Given the description of an element on the screen output the (x, y) to click on. 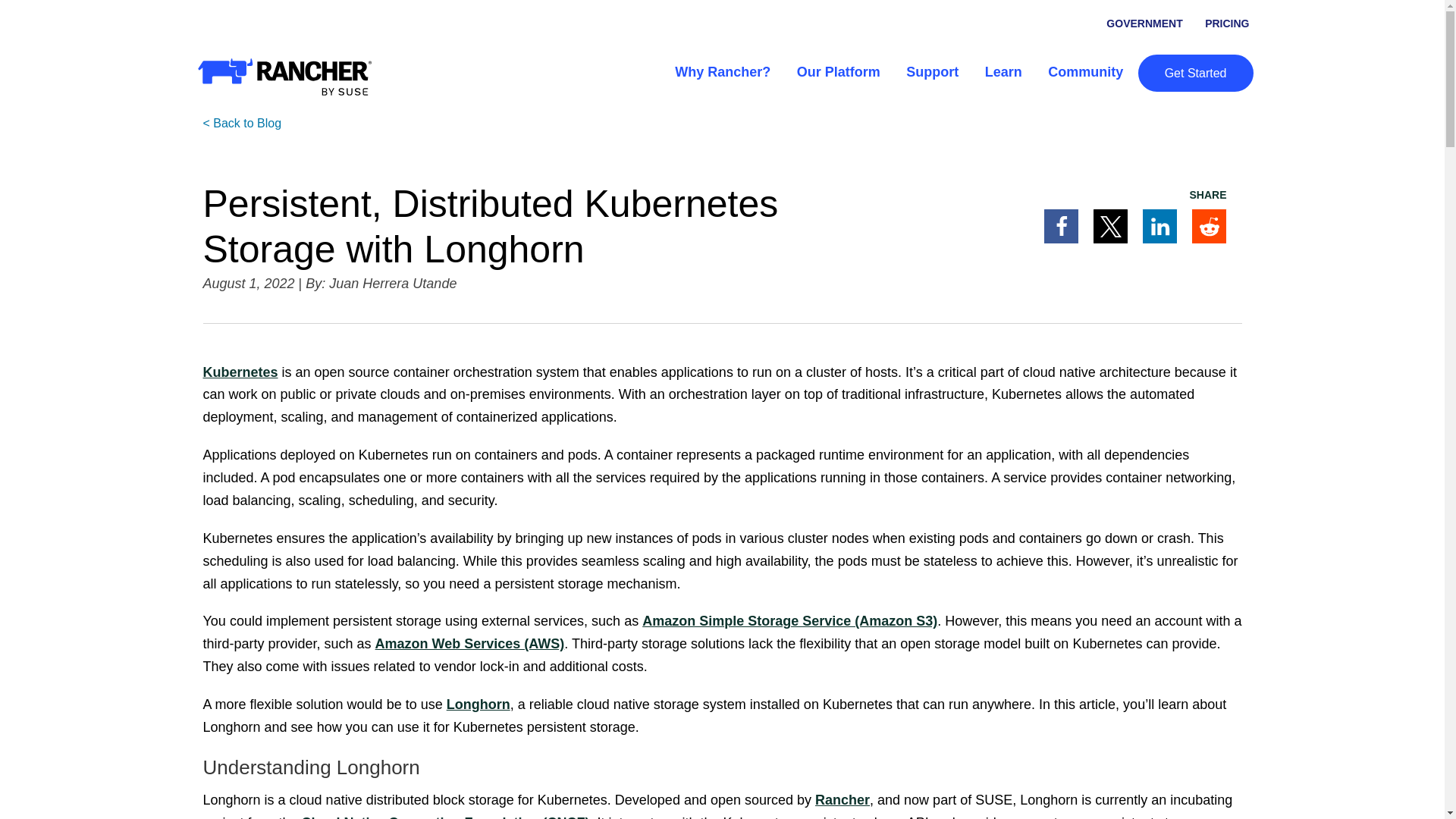
Share on Facebook (1060, 226)
PRICING (1227, 23)
Share on LinkedIn (1159, 226)
GOVERNMENT (1144, 23)
Share on Reddit (1208, 226)
Share on X (1109, 226)
Our Platform (838, 71)
Why Rancher? (722, 71)
